Given the description of an element on the screen output the (x, y) to click on. 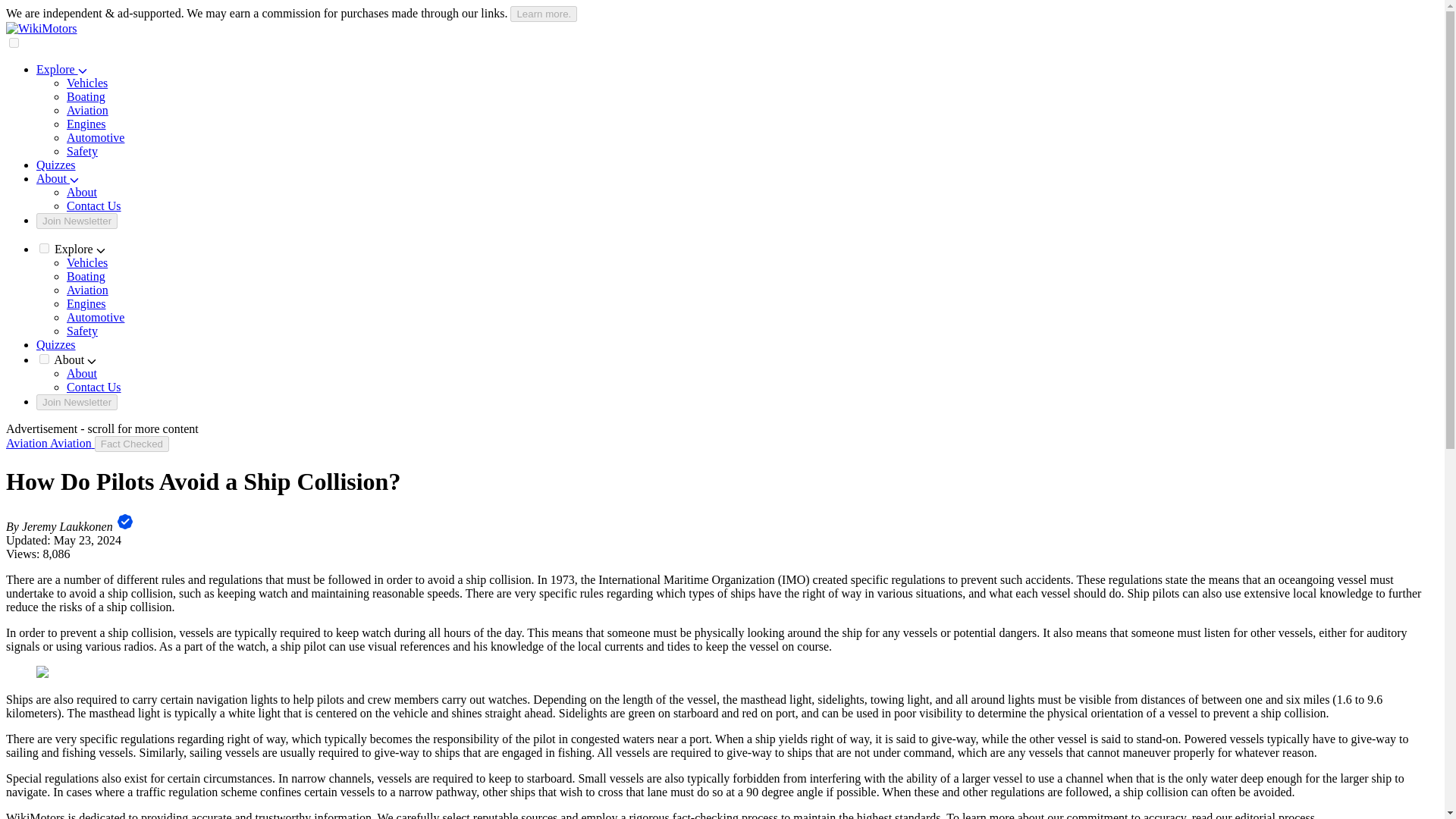
Learn more. (543, 13)
on (44, 248)
Safety (81, 151)
Vehicles (86, 262)
About (57, 178)
Join Newsletter (76, 220)
Join Newsletter (76, 401)
Aviation (86, 110)
Engines (86, 303)
Boating (85, 96)
